Given the description of an element on the screen output the (x, y) to click on. 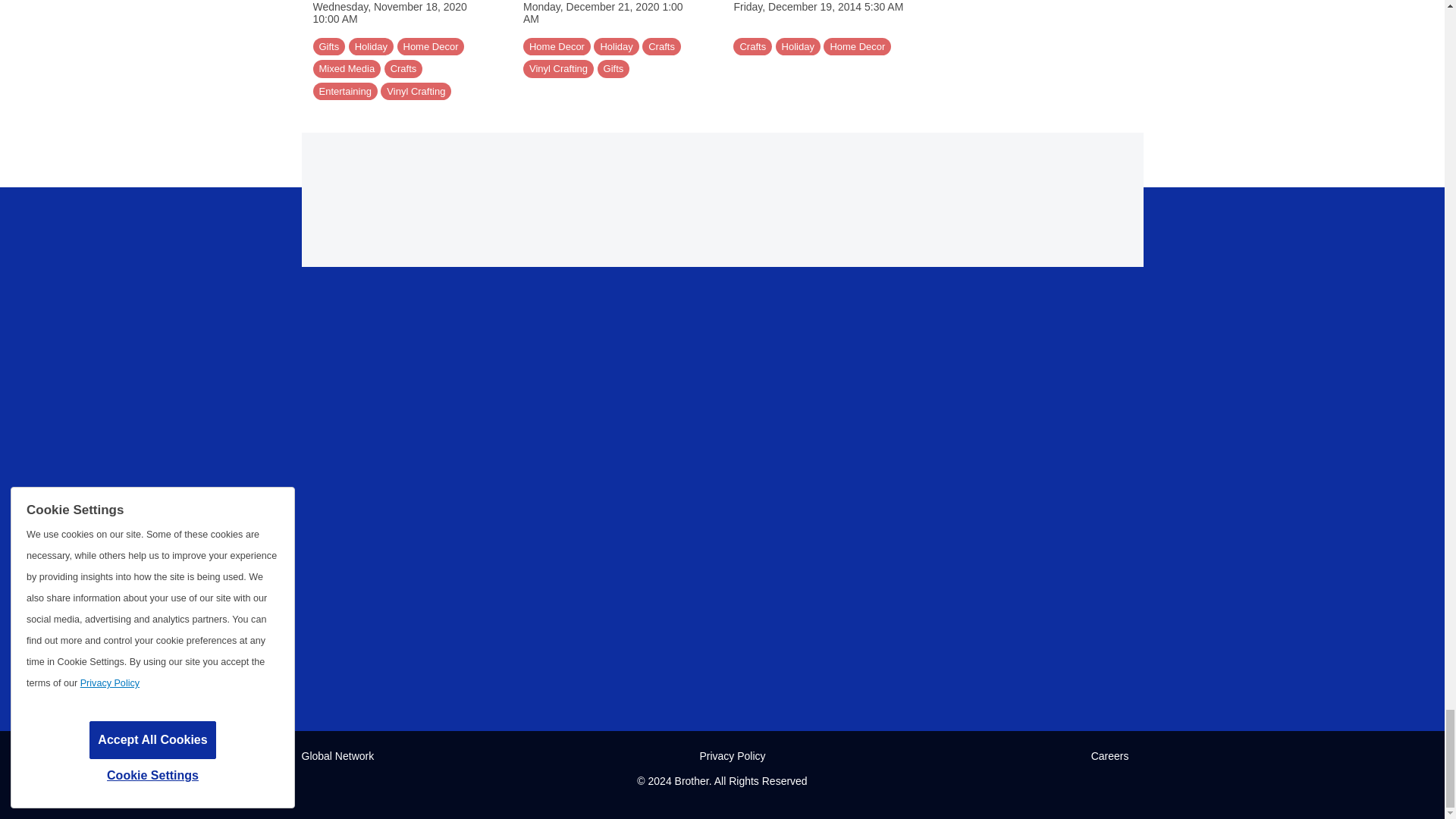
Holiday (371, 46)
Mixed Media (346, 68)
Crafts (403, 68)
Home Decor (556, 46)
Home Decor (430, 46)
Gifts (329, 46)
Vinyl Crafting (415, 91)
Entertaining (345, 91)
